Given the description of an element on the screen output the (x, y) to click on. 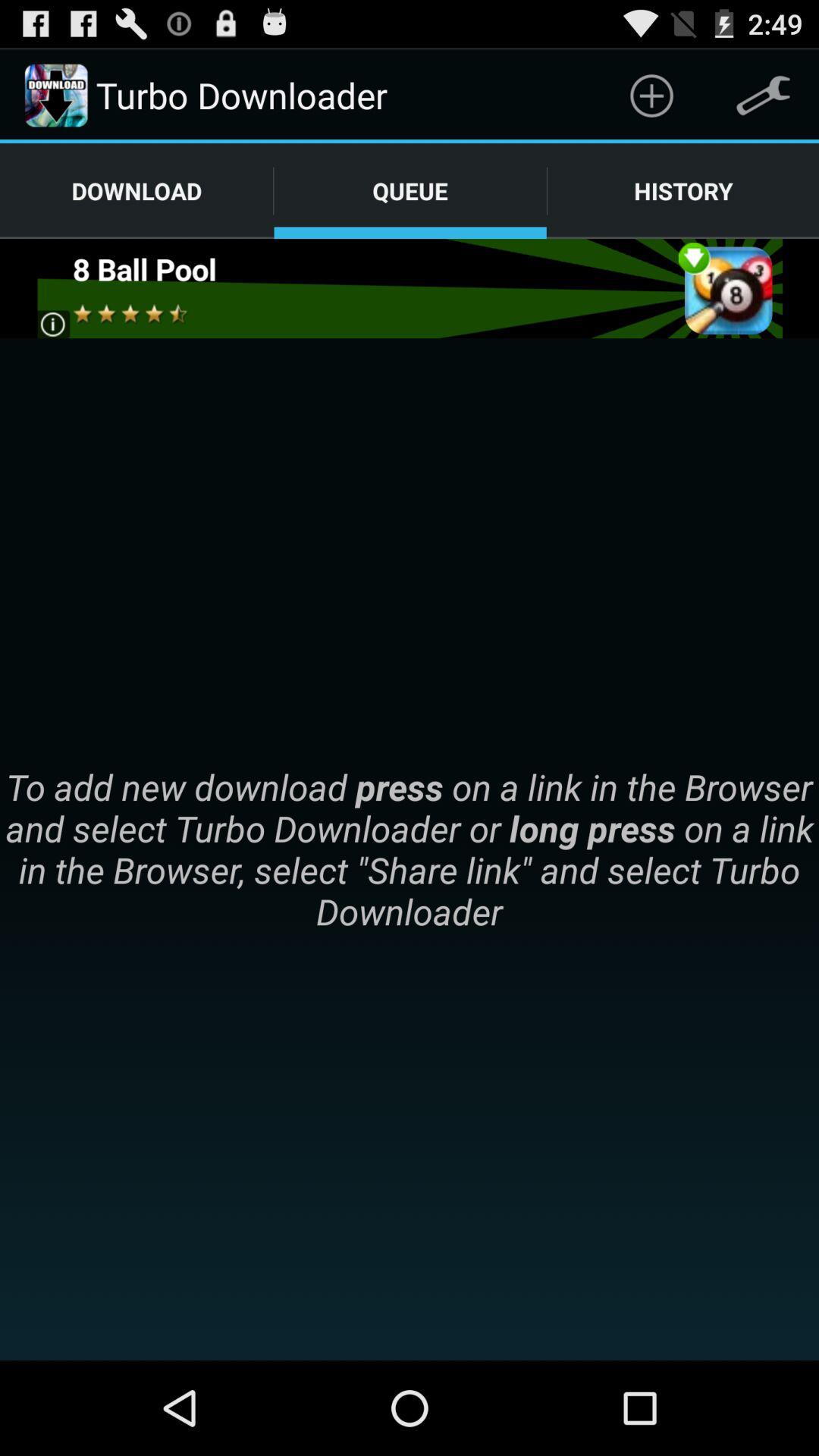
select advertisement (408, 288)
